Given the description of an element on the screen output the (x, y) to click on. 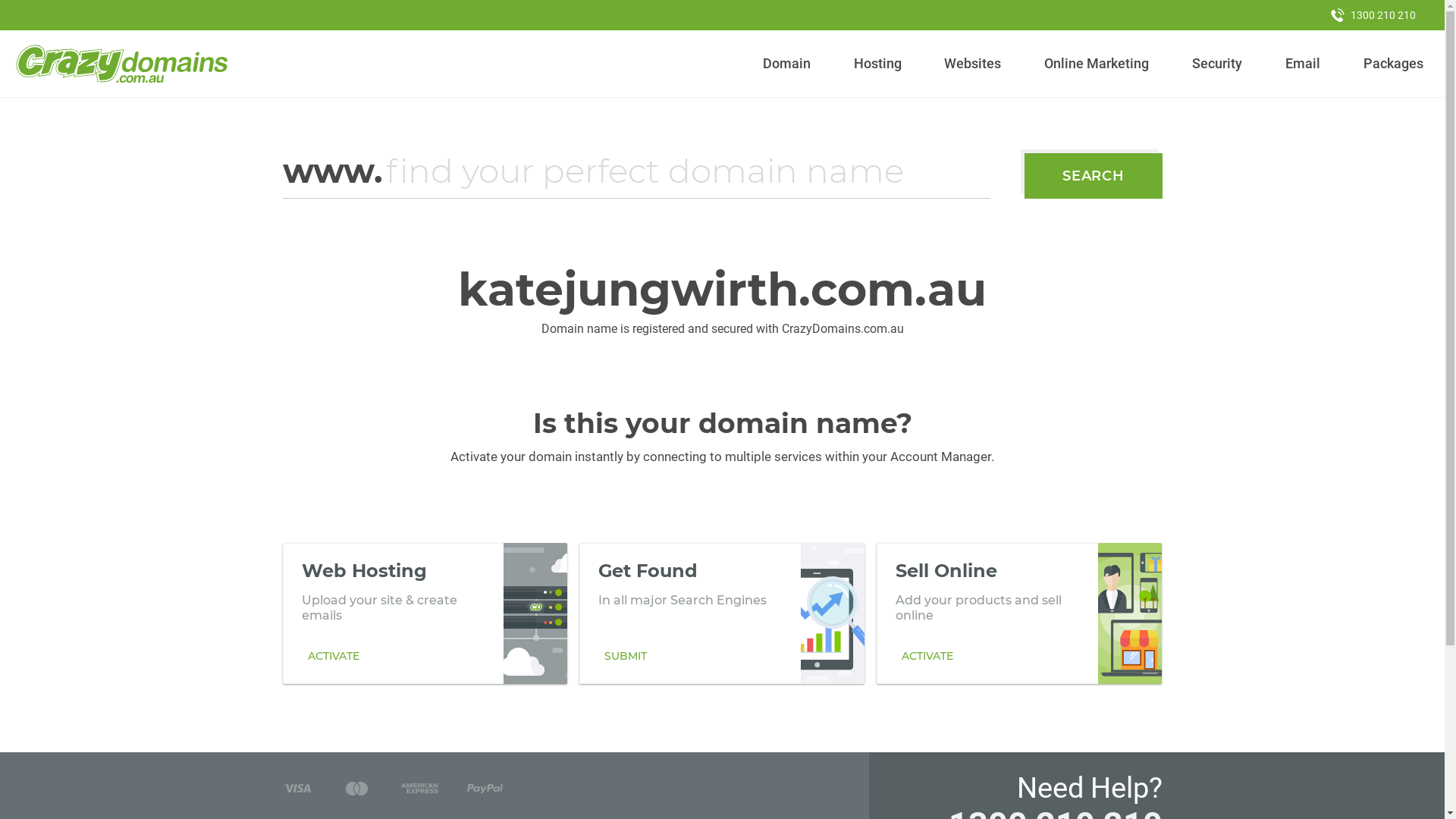
Sell Online
Add your products and sell online
ACTIVATE Element type: text (1018, 613)
Domain Element type: text (786, 63)
Online Marketing Element type: text (1096, 63)
Websites Element type: text (972, 63)
Security Element type: text (1217, 63)
Email Element type: text (1302, 63)
Web Hosting
Upload your site & create emails
ACTIVATE Element type: text (424, 613)
Get Found
In all major Search Engines
SUBMIT Element type: text (721, 613)
SEARCH Element type: text (1092, 175)
Packages Element type: text (1392, 63)
1300 210 210 Element type: text (1373, 15)
Hosting Element type: text (877, 63)
